Given the description of an element on the screen output the (x, y) to click on. 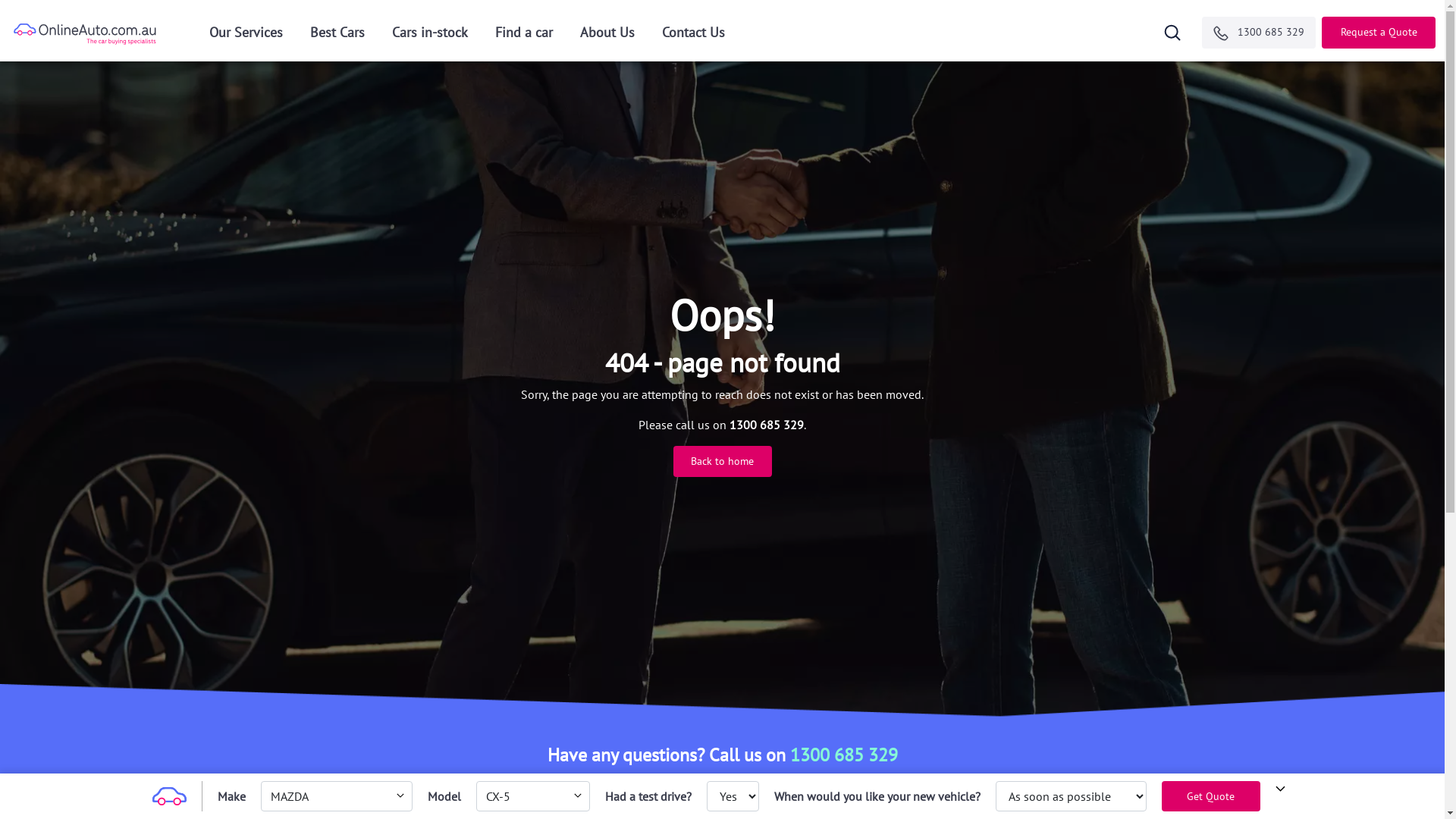
Find a car Element type: text (523, 36)
1300 685 329 Element type: text (843, 754)
Contact Us Element type: text (693, 36)
Cars in-stock Element type: text (429, 36)
Get Quote Element type: text (1210, 796)
Back to home Element type: text (722, 460)
Best Cars Element type: text (337, 36)
About Us Element type: text (607, 36)
Request a Quote Element type: text (1378, 32)
Our Services Element type: text (245, 36)
1300 685 329 Element type: text (1258, 32)
